Given the description of an element on the screen output the (x, y) to click on. 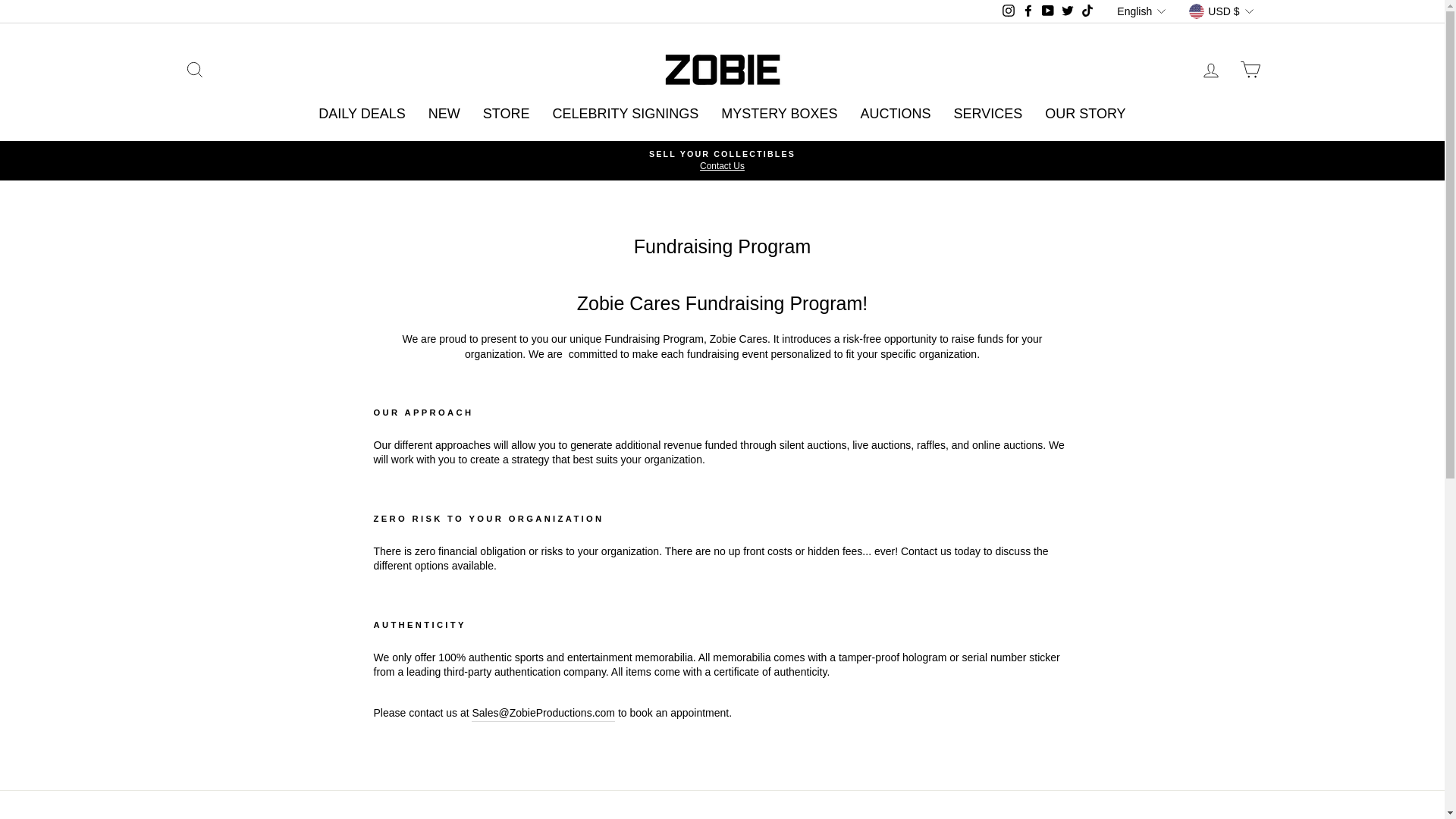
Zobie Productions on Instagram (1007, 11)
Zobie Productions on YouTube (1048, 11)
Zobie Productions on TikTok (1087, 11)
Zobie Productions on Facebook (1027, 11)
Zobie Productions on Twitter (1067, 11)
